Given the description of an element on the screen output the (x, y) to click on. 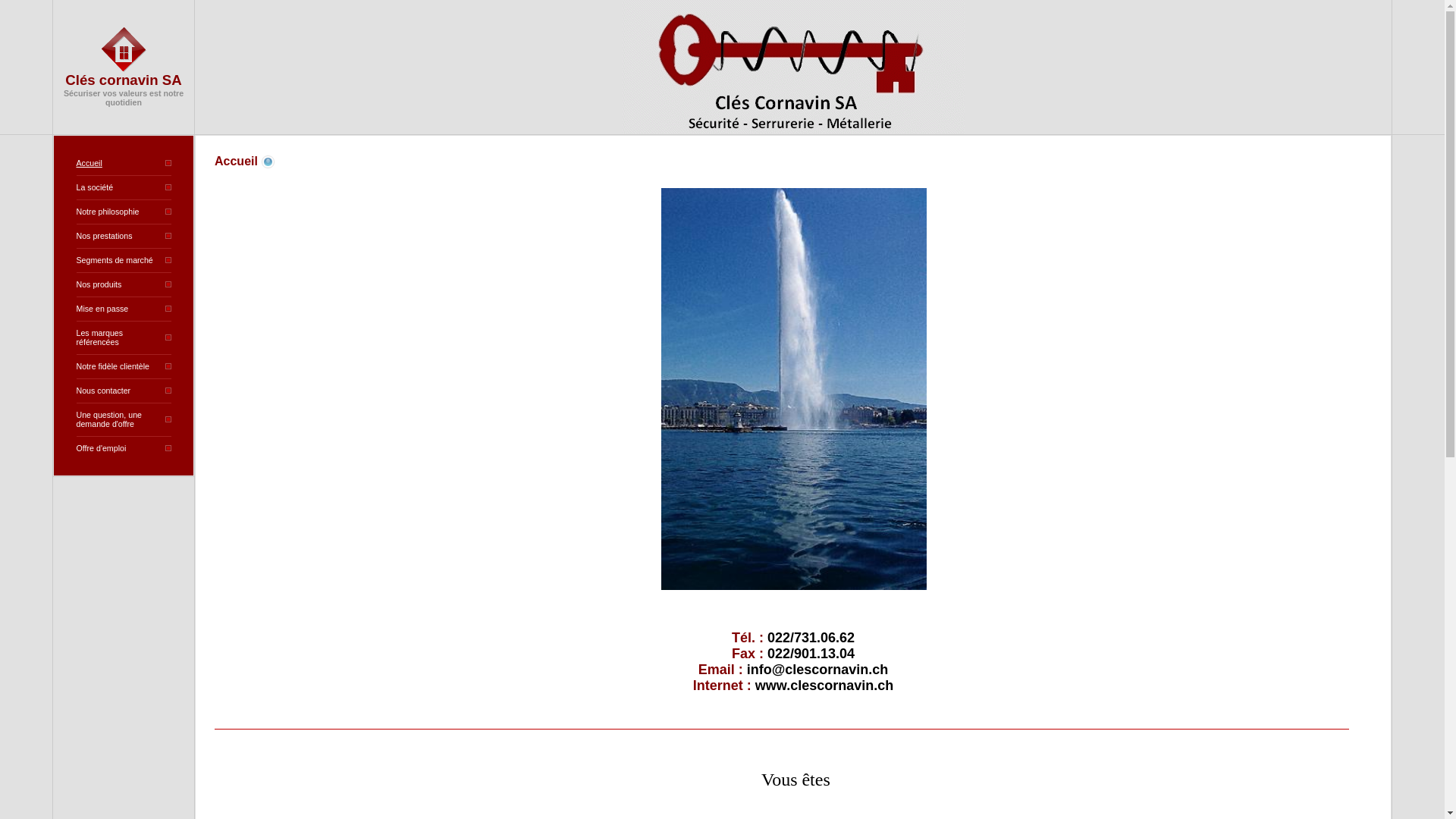
Nous contacter Element type: text (102, 390)
Nos produits Element type: text (98, 283)
Notre philosophie Element type: text (106, 211)
Accueil Element type: text (88, 162)
Mise en passe Element type: text (101, 308)
Une question, une demande d'offre Element type: text (108, 419)
Offre d'emploi Element type: text (100, 447)
Nos prestations Element type: text (103, 235)
